Given the description of an element on the screen output the (x, y) to click on. 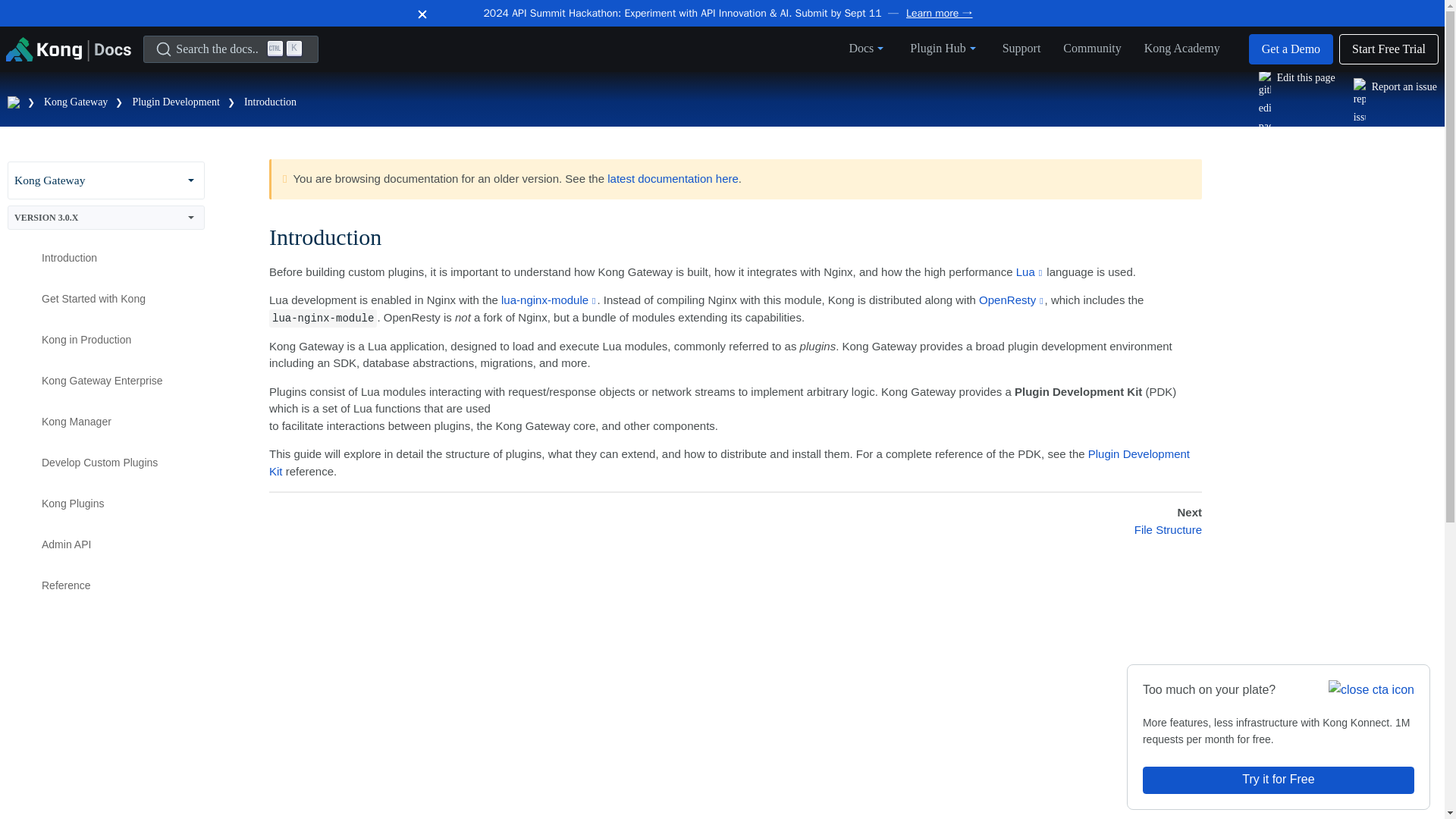
Get a Demo (1291, 49)
Community (1091, 47)
Edit this page (1297, 101)
Kong Gateway (230, 49)
Kong Academy (106, 180)
Support (1182, 47)
Introduction (1022, 47)
Kong Gateway (270, 102)
Report an issue (75, 102)
